Given the description of an element on the screen output the (x, y) to click on. 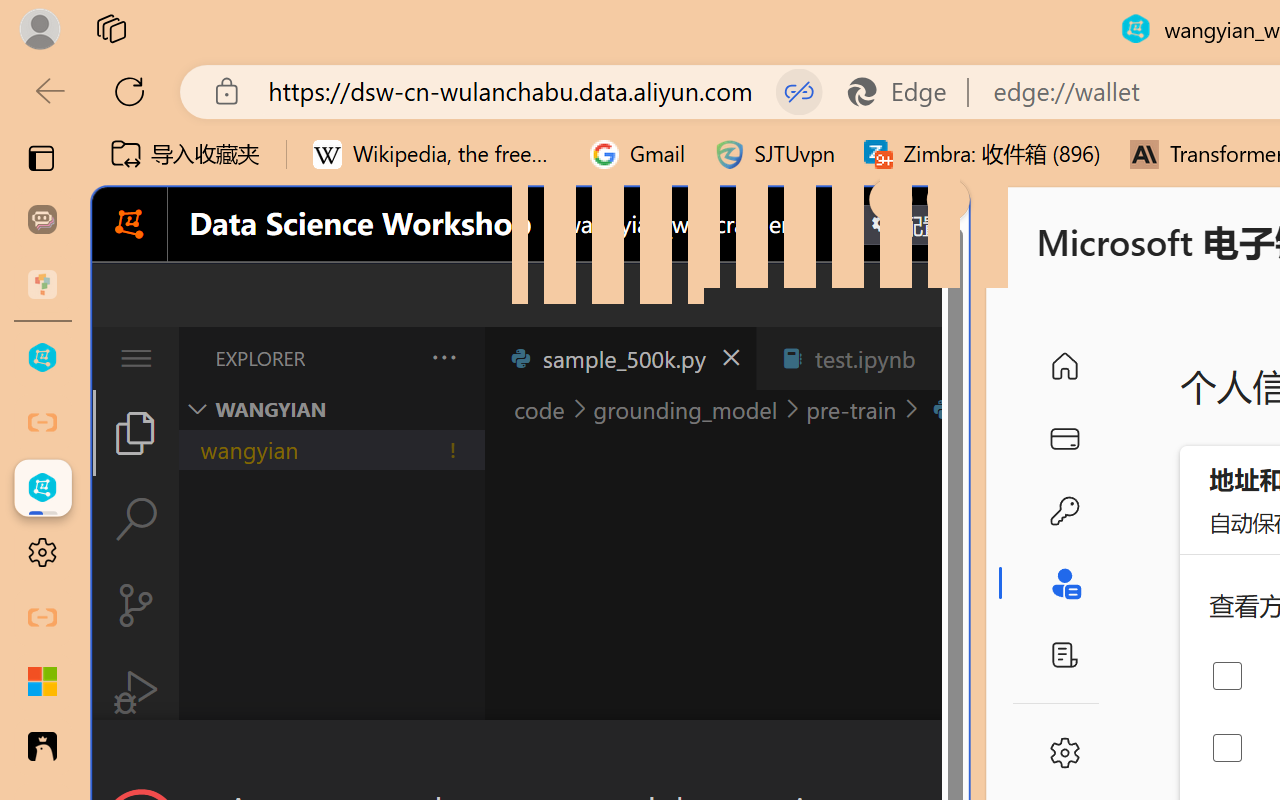
Close Dialog (959, 756)
Search (Ctrl+Shift+F) (135, 519)
Gmail (637, 154)
sample_500k.py (619, 358)
Wikipedia, the free encyclopedia (437, 154)
